Given the description of an element on the screen output the (x, y) to click on. 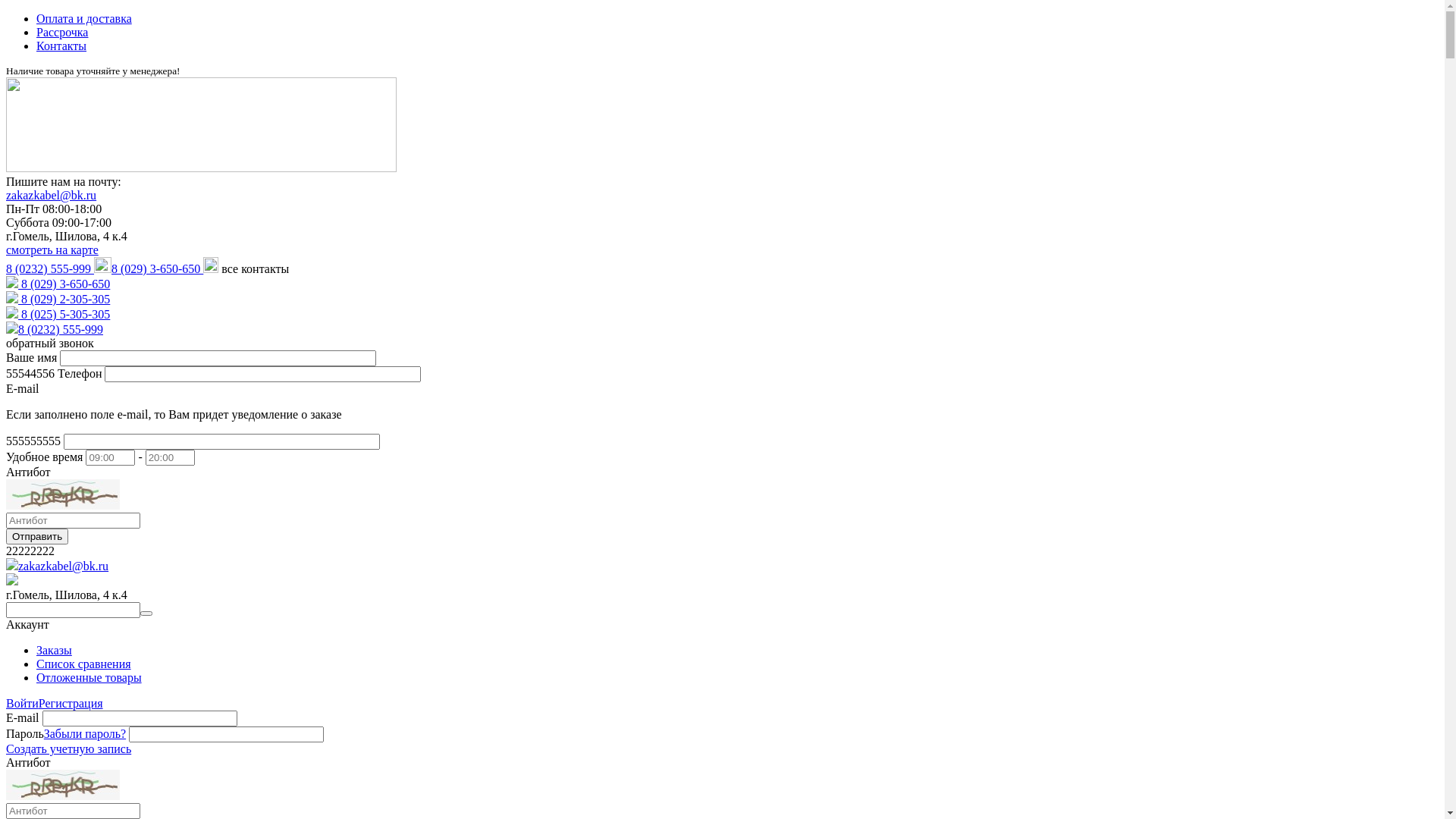
8 (029) 2-305-305 Element type: text (63, 298)
8 (029) 3-650-650 Element type: text (164, 268)
zakazkabel@bk.ru Element type: text (63, 565)
8 (025) 5-305-305 Element type: text (63, 313)
8 (0232) 555-999 Element type: text (58, 268)
8 (0232) 555-999 Element type: text (60, 329)
8 (029) 3-650-650 Element type: text (63, 283)
zakazkabel@bk.ru Element type: text (51, 194)
